Given the description of an element on the screen output the (x, y) to click on. 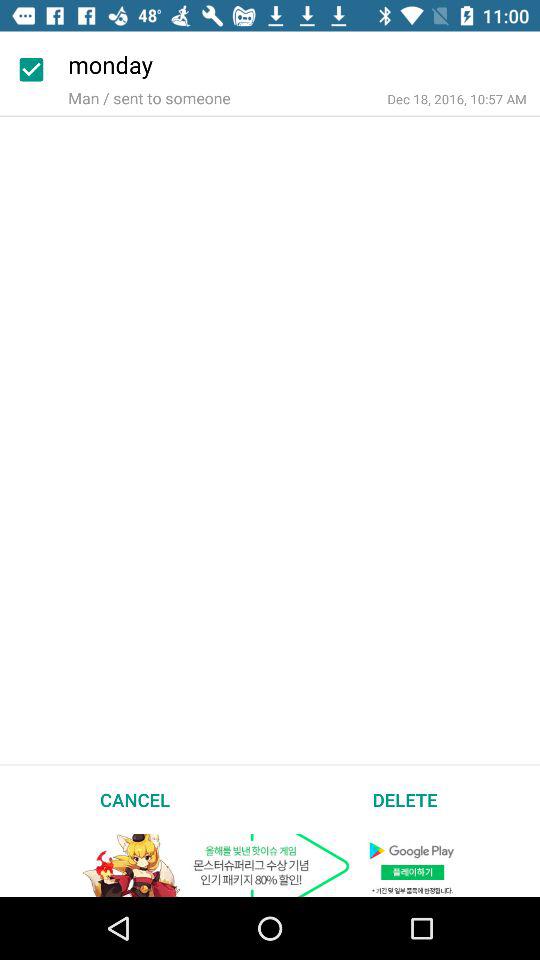
choose the icon at the bottom right corner (405, 799)
